Given the description of an element on the screen output the (x, y) to click on. 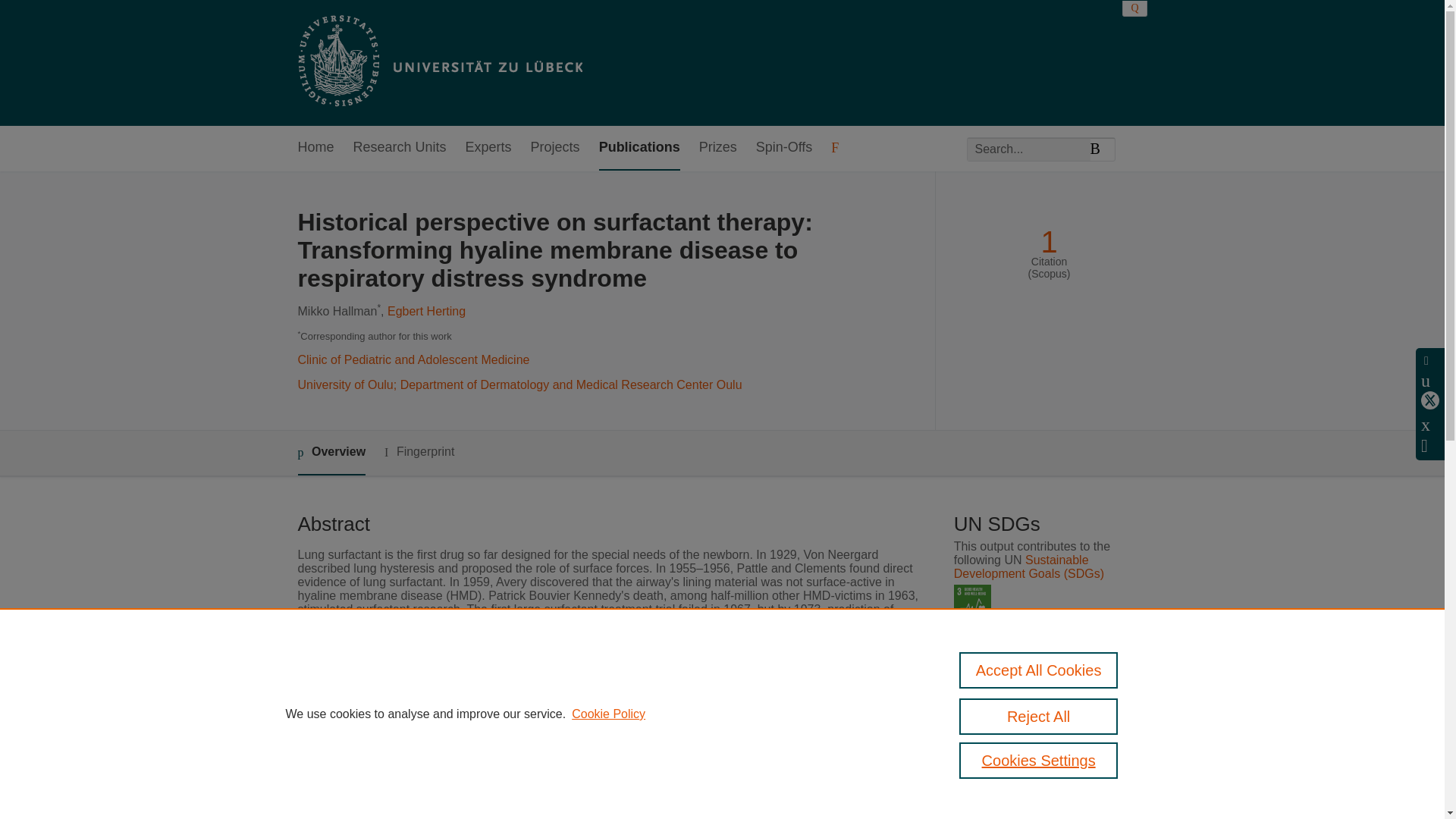
Publications (638, 148)
Experts (488, 148)
Projects (555, 148)
Seminars in Fetal and Neonatal Medicine (617, 764)
Egbert Herting (426, 310)
Link to publication in Scopus (1045, 727)
Clinic of Pediatric and Adolescent Medicine (413, 359)
University of Luebeck Home (438, 62)
